Given the description of an element on the screen output the (x, y) to click on. 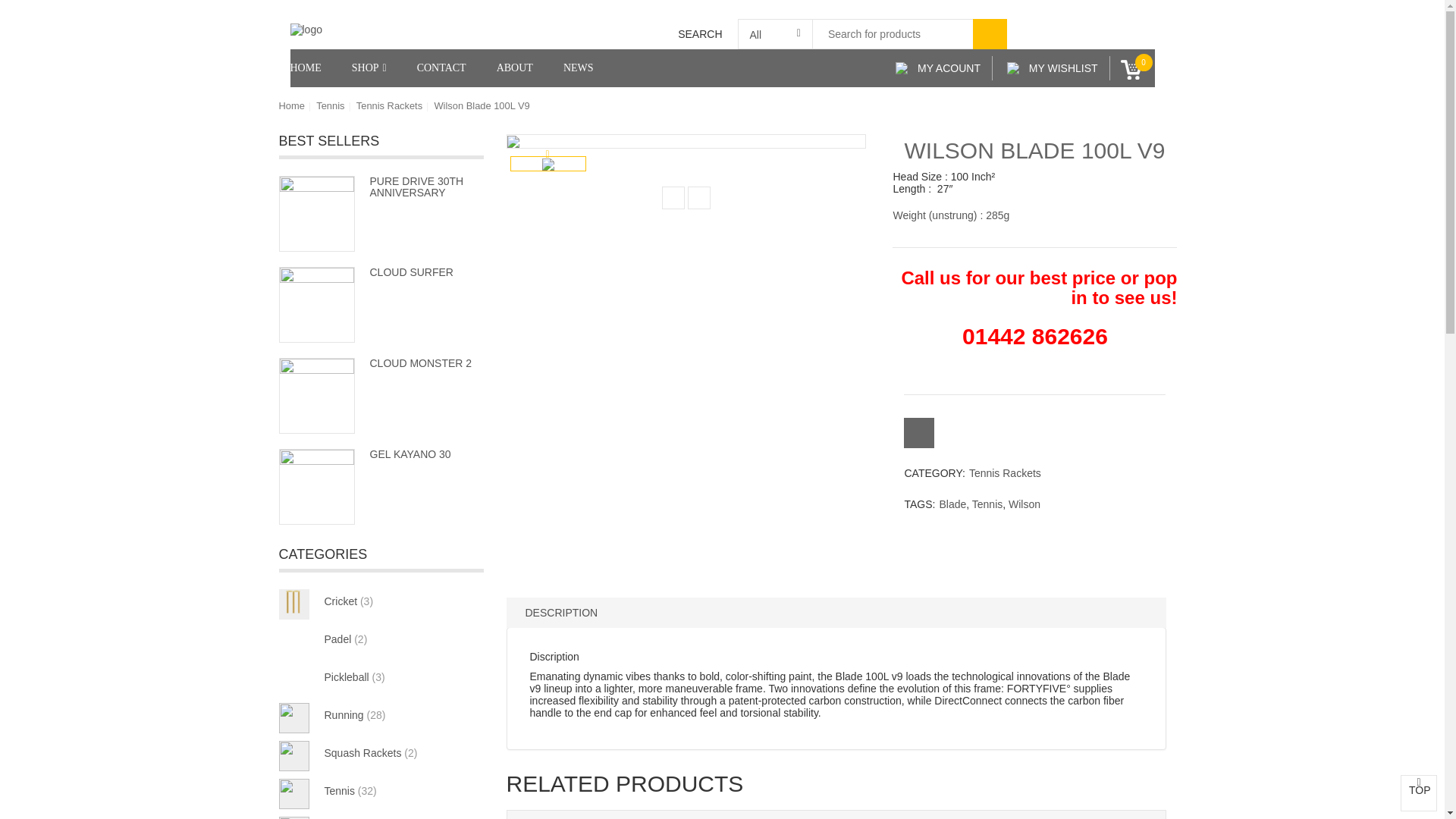
SHOP (368, 67)
HOME (312, 67)
About (514, 67)
Contact (441, 67)
MY ACOUNT (937, 68)
ABOUT (514, 67)
CONTACT (441, 67)
Home (312, 67)
News (578, 67)
All (774, 33)
